Given the description of an element on the screen output the (x, y) to click on. 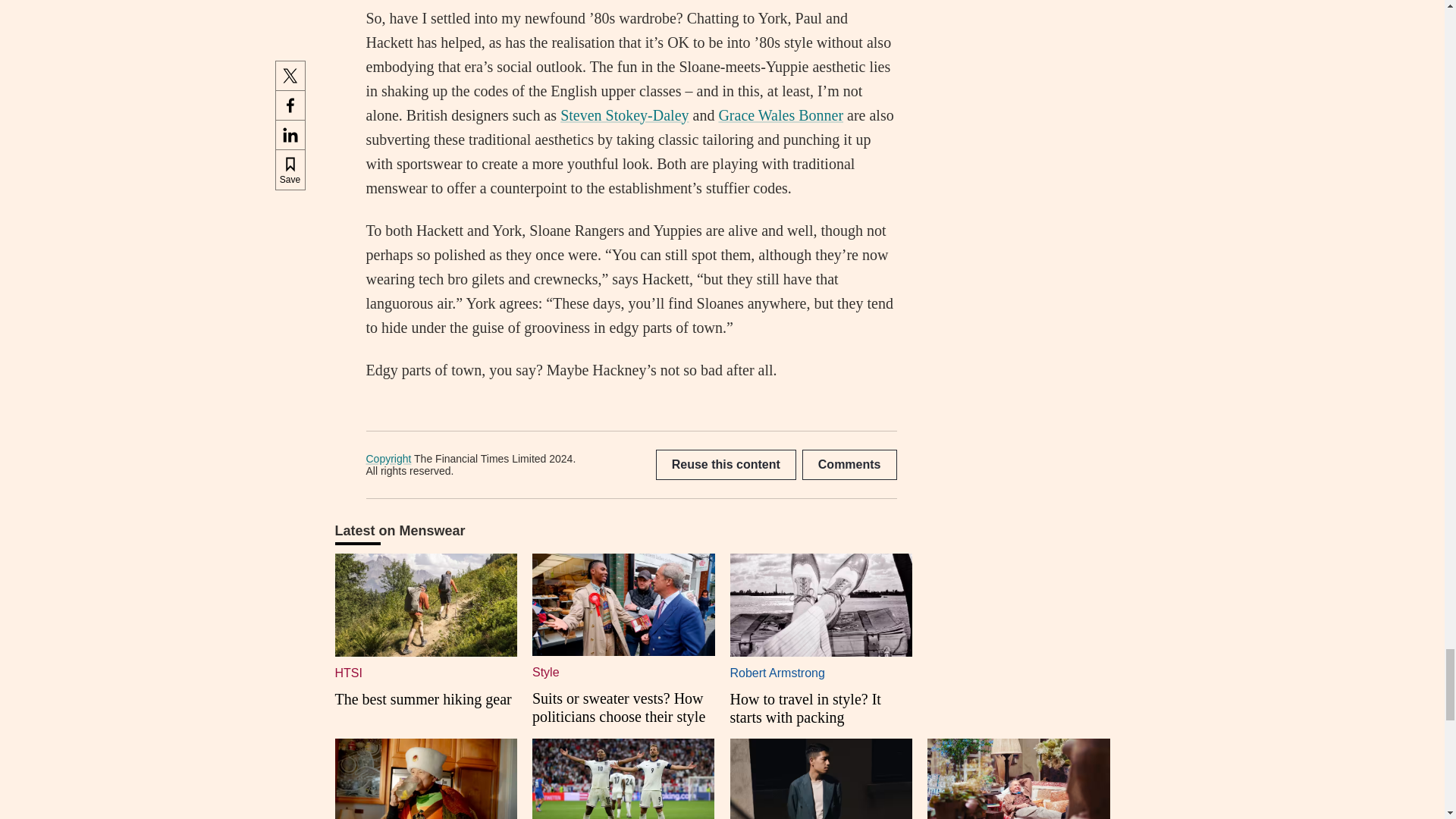
Jump to comments section (849, 464)
